Given the description of an element on the screen output the (x, y) to click on. 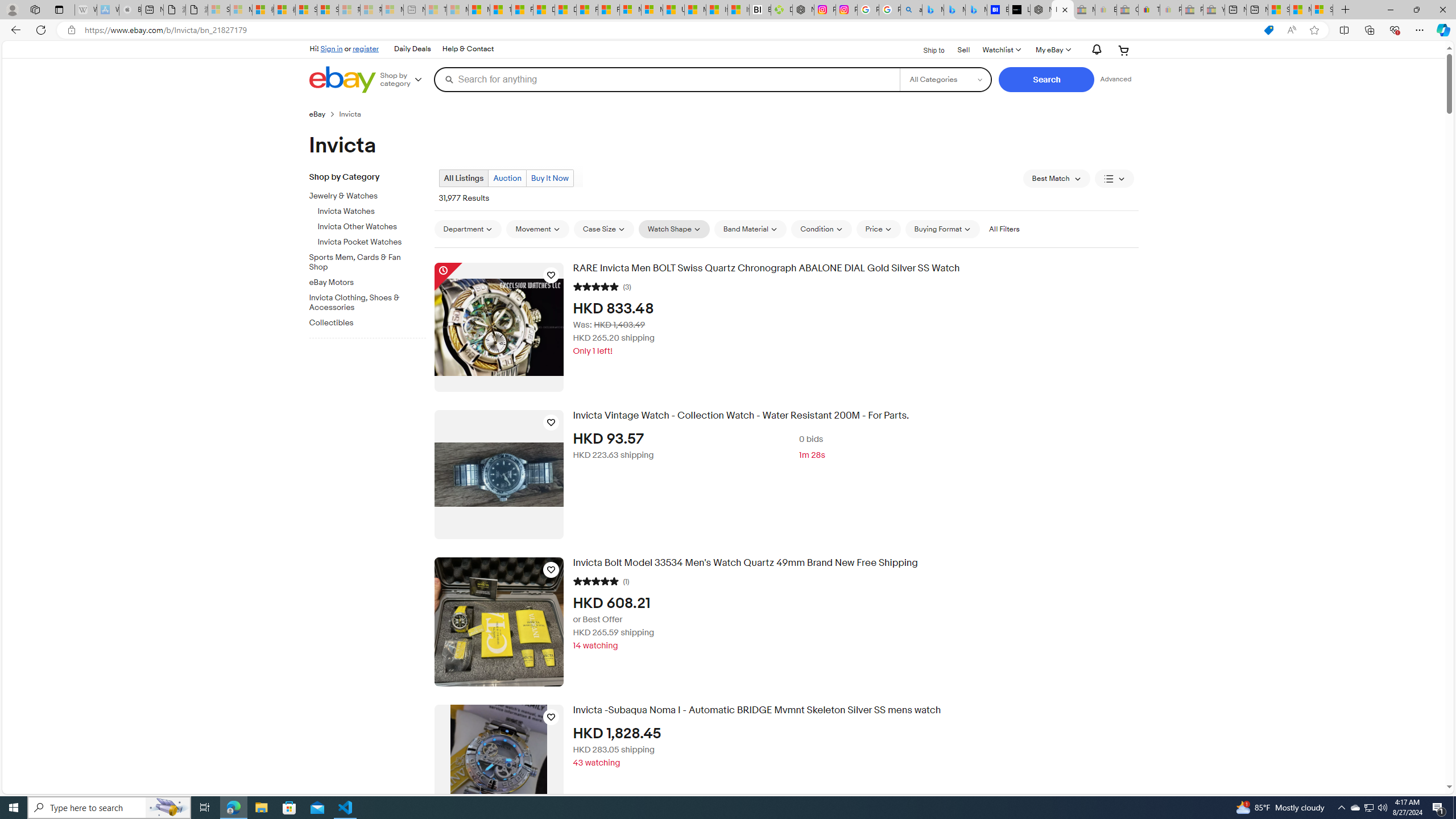
Buying Format (941, 229)
Microsoft Bing Travel - Flights from Hong Kong to Bangkok (933, 9)
WatchlistExpand Watch List (1000, 49)
Condition (820, 229)
Expand Cart (1123, 49)
Band Material (750, 229)
Invicta Other Watches (371, 224)
Invicta products for sale | eBay (1062, 9)
Movement (537, 229)
